Given the description of an element on the screen output the (x, y) to click on. 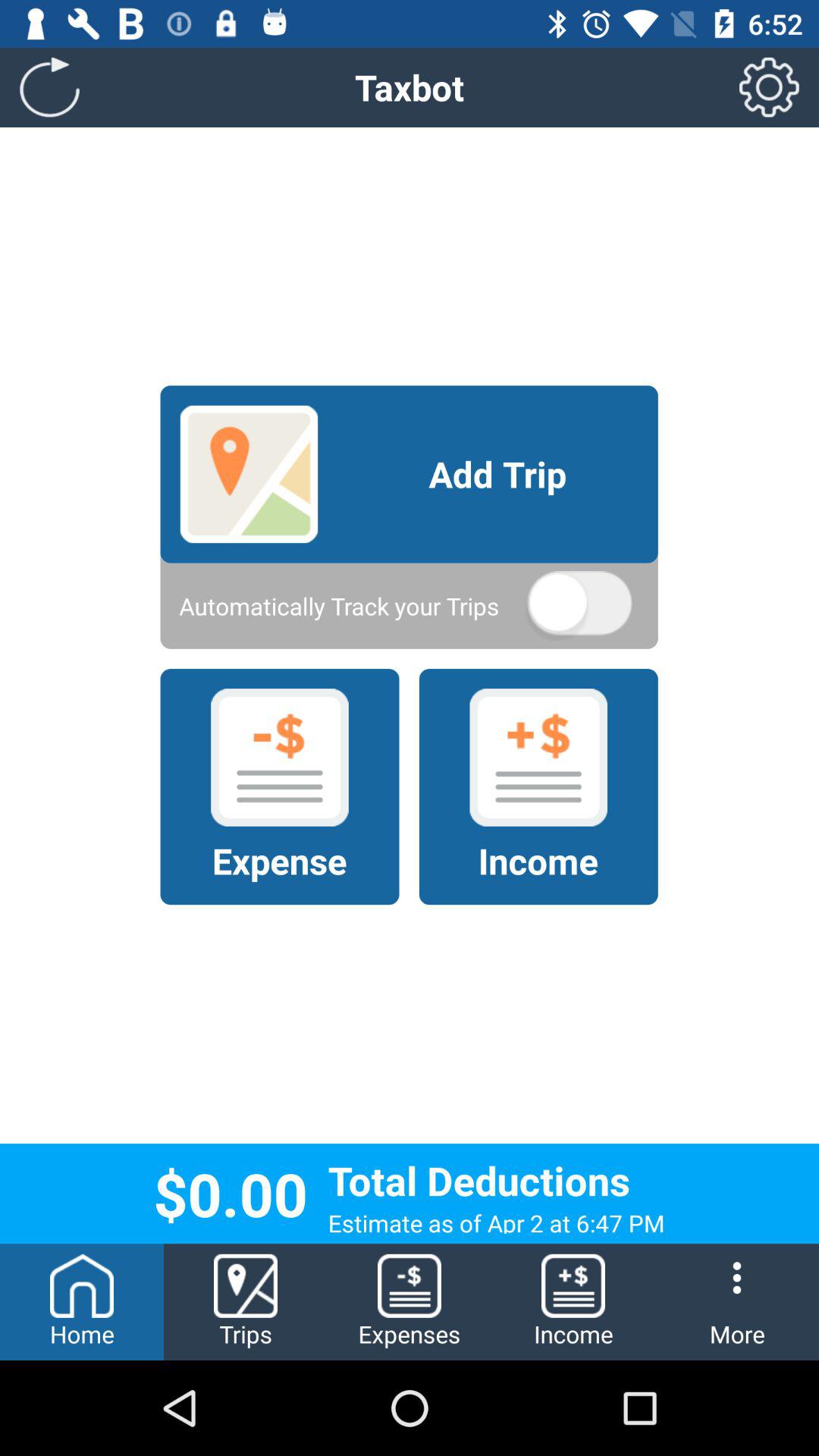
select the icon next to the taxbot (769, 87)
